Given the description of an element on the screen output the (x, y) to click on. 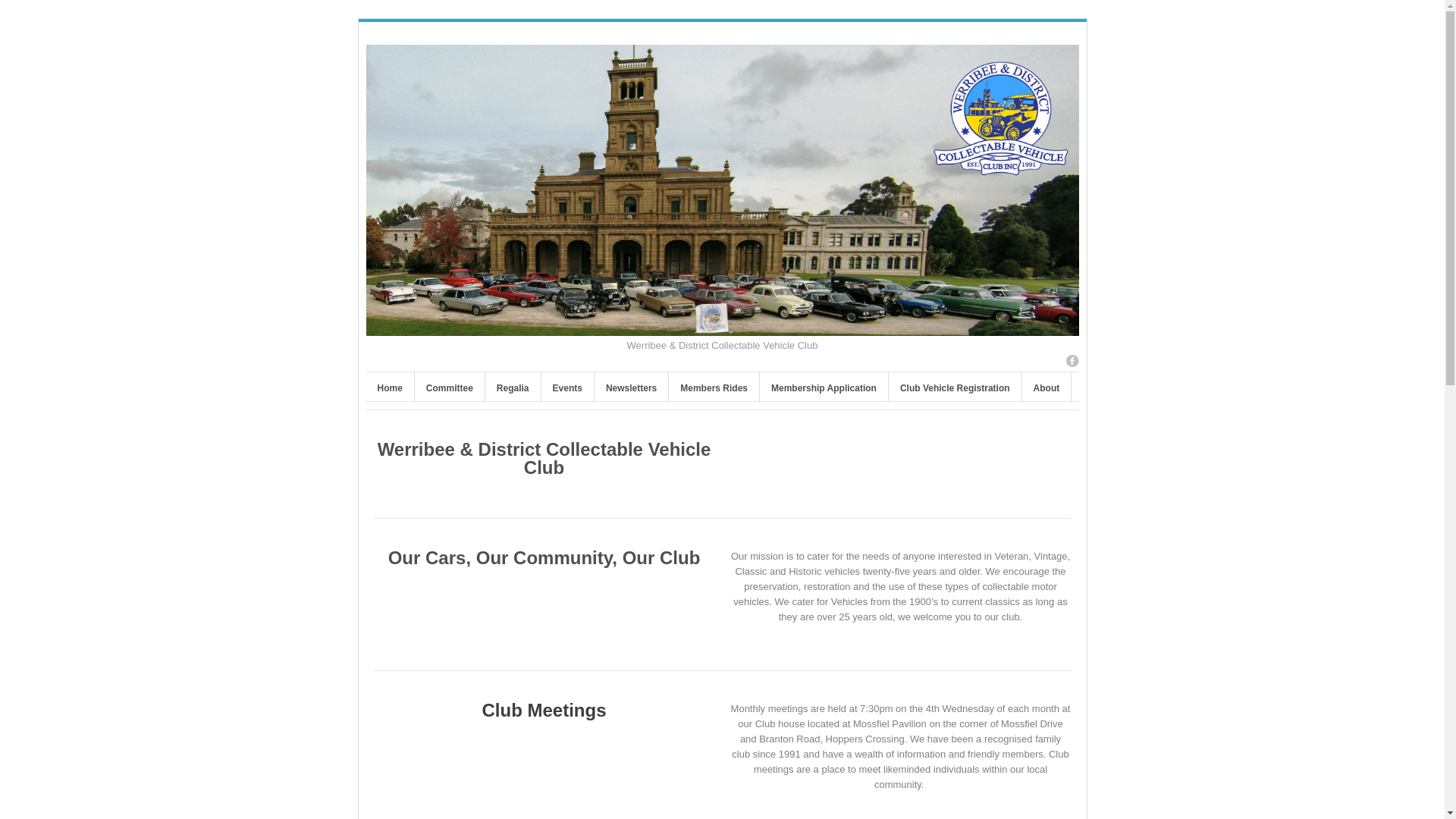
Regalia Element type: text (512, 390)
Club Vehicle Registration Element type: text (954, 390)
Events Element type: text (567, 390)
Members Rides Element type: text (713, 390)
Werribee & District Collectable Vehicle Club Element type: hover (721, 327)
Committee Element type: text (449, 390)
About Element type: text (1046, 390)
Membership Application Element type: text (823, 390)
Home Element type: text (389, 390)
Newsletters Element type: text (631, 390)
